Given the description of an element on the screen output the (x, y) to click on. 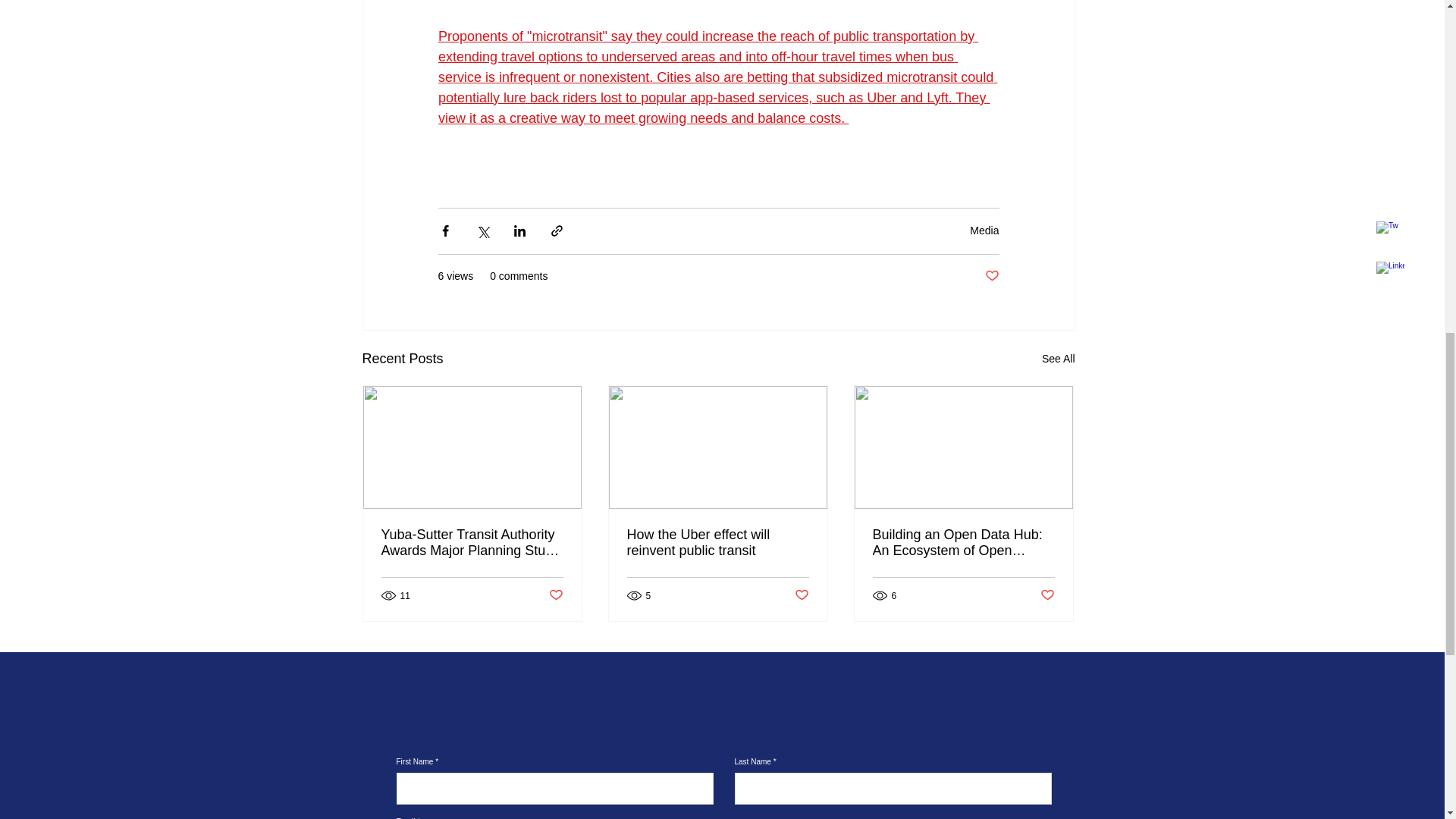
Post not marked as liked (801, 595)
Post not marked as liked (1047, 595)
Post not marked as liked (555, 595)
See All (1058, 359)
Post not marked as liked (991, 276)
How the Uber effect will reinvent public transit (717, 542)
Building an Open Data Hub: An Ecosystem of Open Information (963, 542)
Media (983, 230)
